Given the description of an element on the screen output the (x, y) to click on. 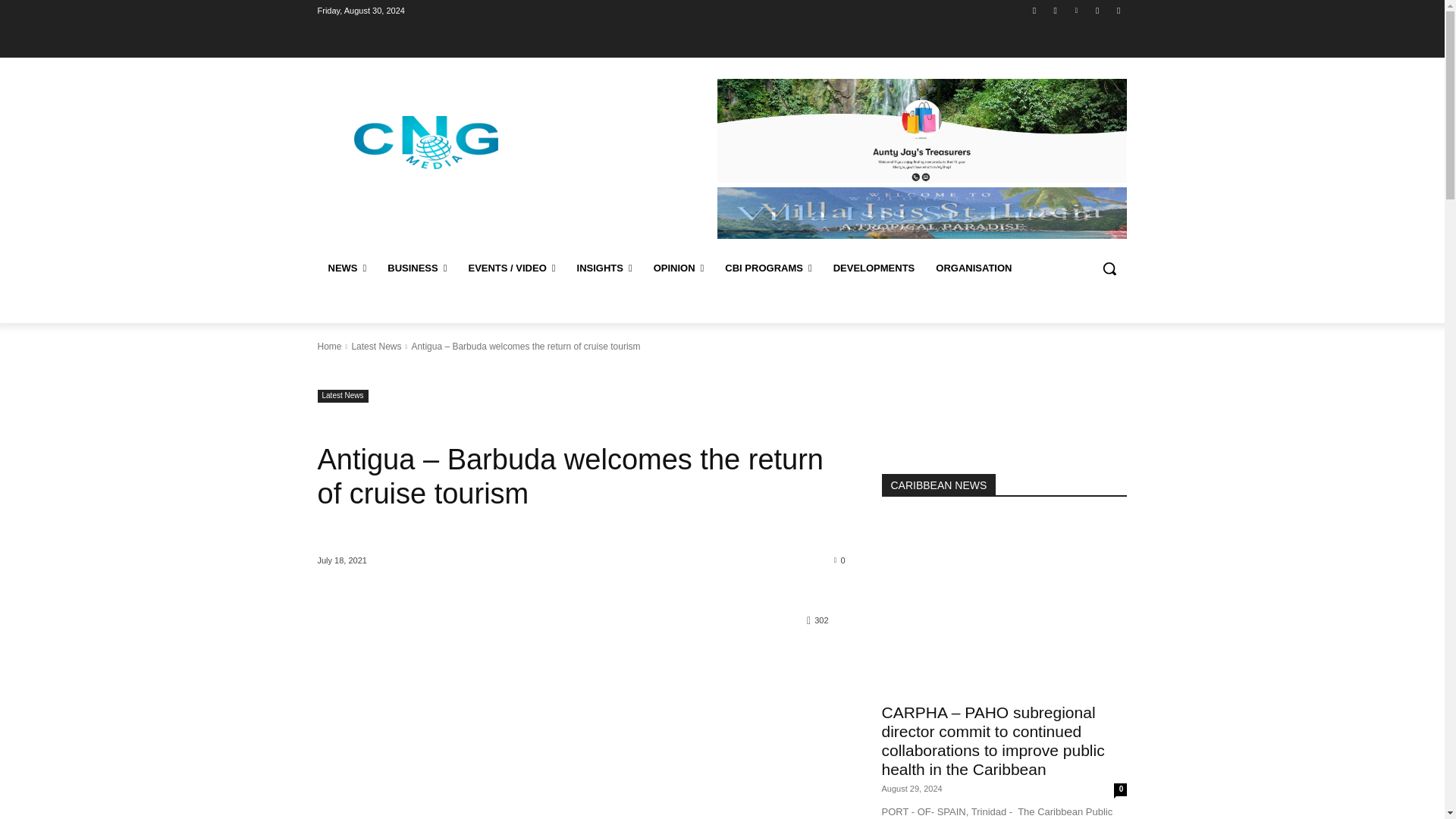
Linkedin (1075, 9)
Facebook (1034, 9)
NEWS (347, 268)
Instagram (1055, 9)
Twitter (1097, 9)
Youtube (1117, 9)
